Given the description of an element on the screen output the (x, y) to click on. 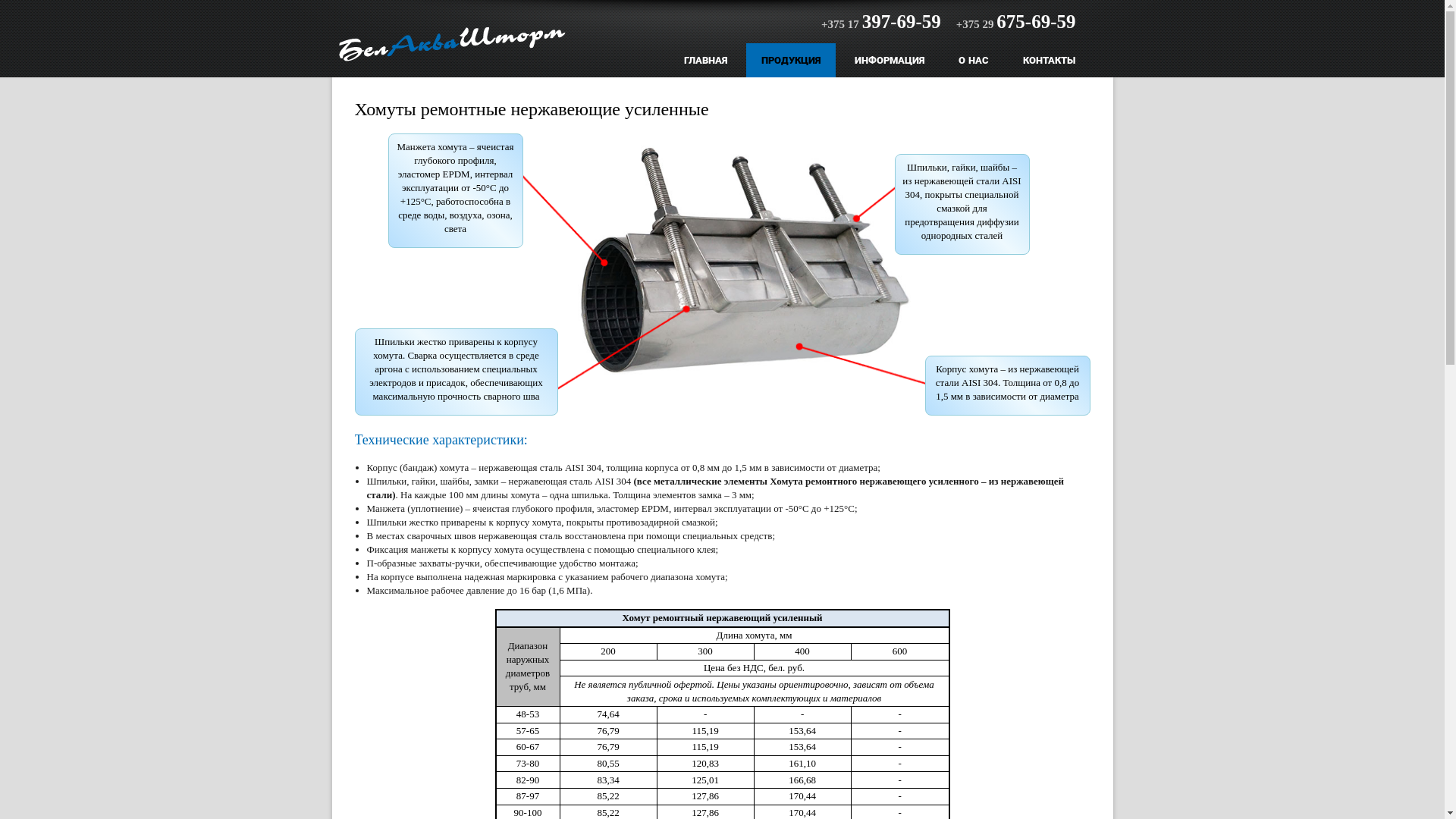
675-69-59 Element type: text (1035, 21)
397-69-59 Element type: text (901, 21)
